Given the description of an element on the screen output the (x, y) to click on. 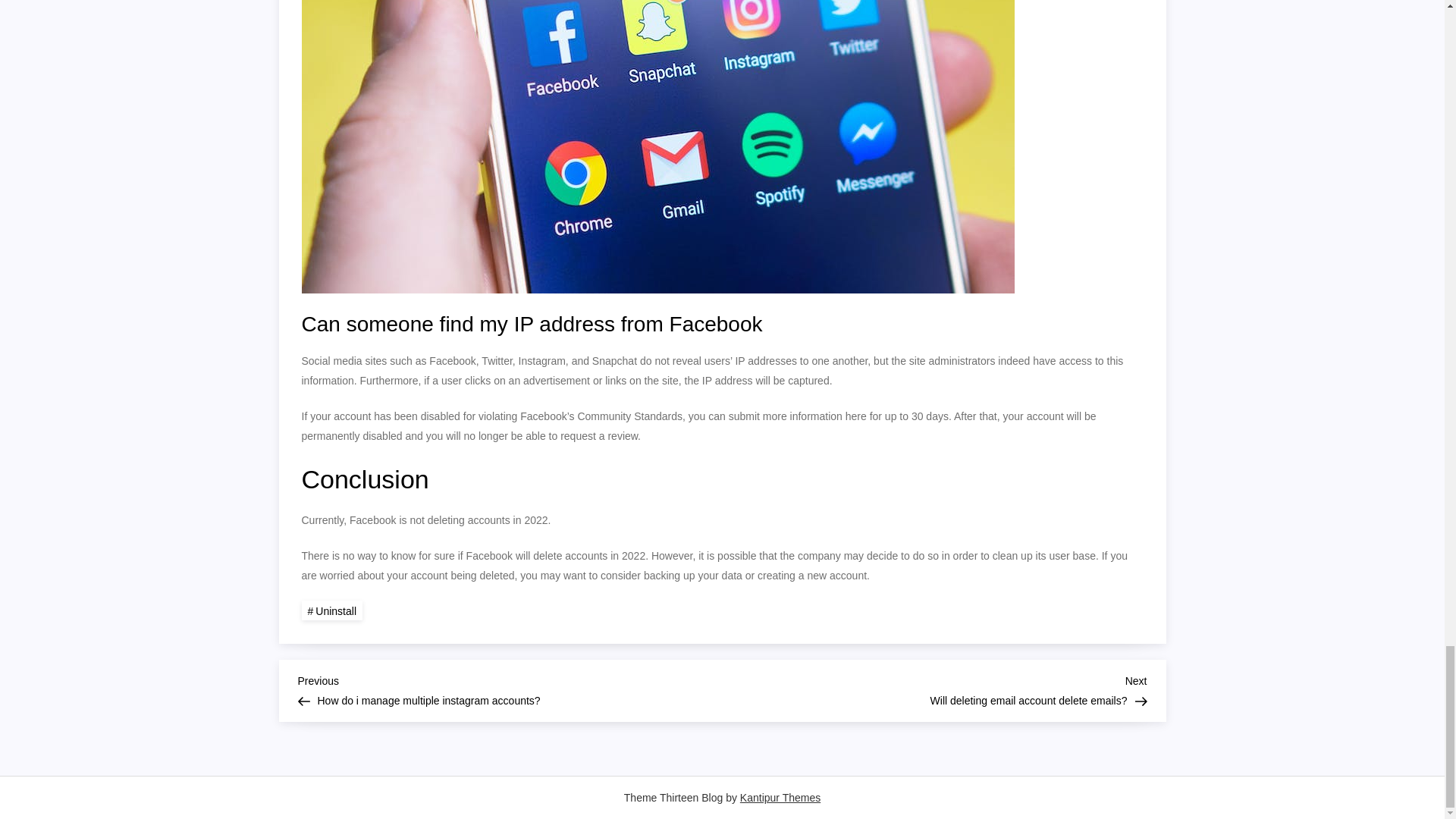
Kantipur Themes (780, 797)
Uninstall (934, 688)
